Given the description of an element on the screen output the (x, y) to click on. 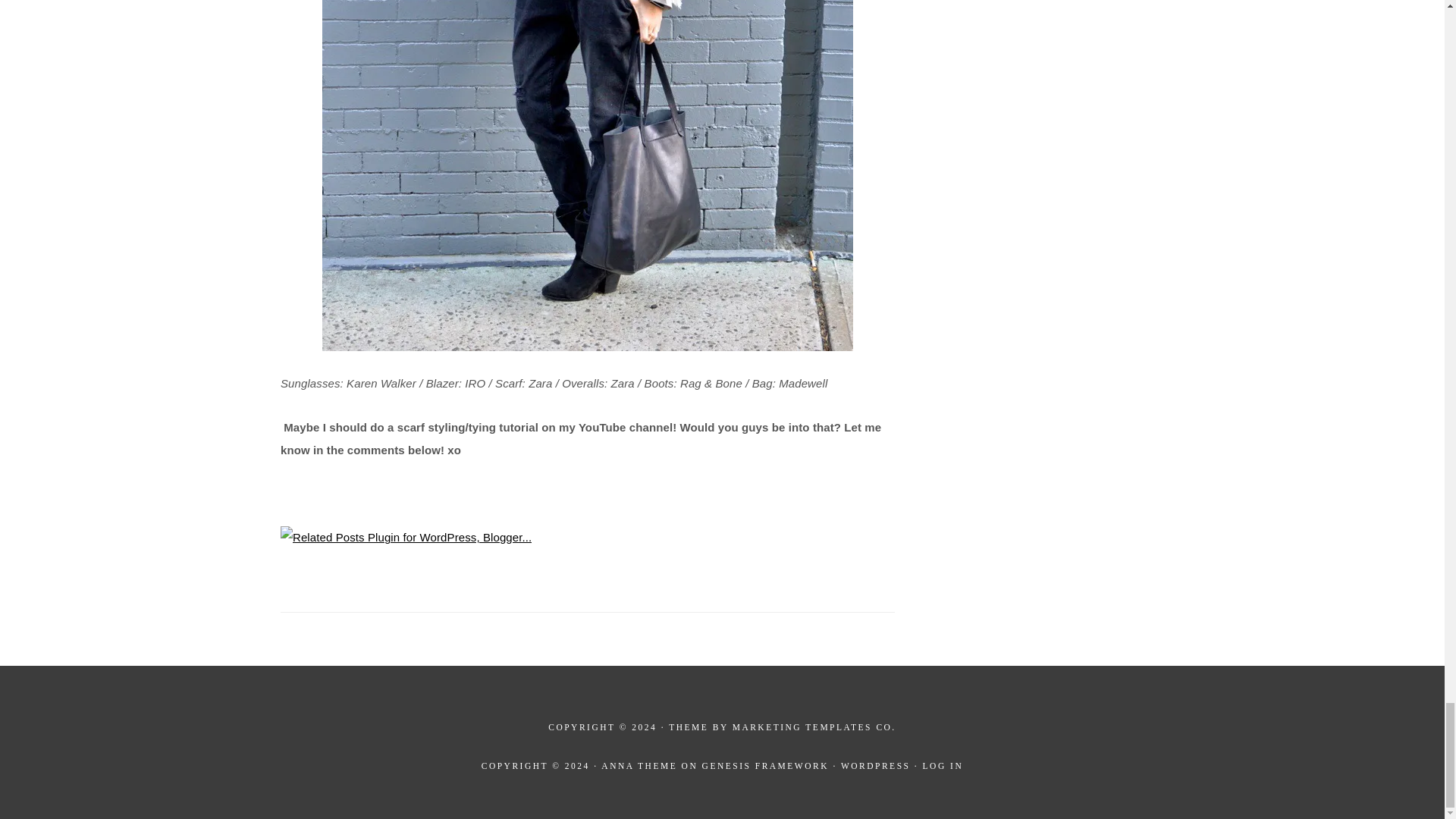
WORDPRESS (876, 765)
GENESIS FRAMEWORK (764, 765)
LOG IN (943, 765)
MARKETING TEMPLATES CO. (814, 727)
ANNA THEME (639, 765)
